Given the description of an element on the screen output the (x, y) to click on. 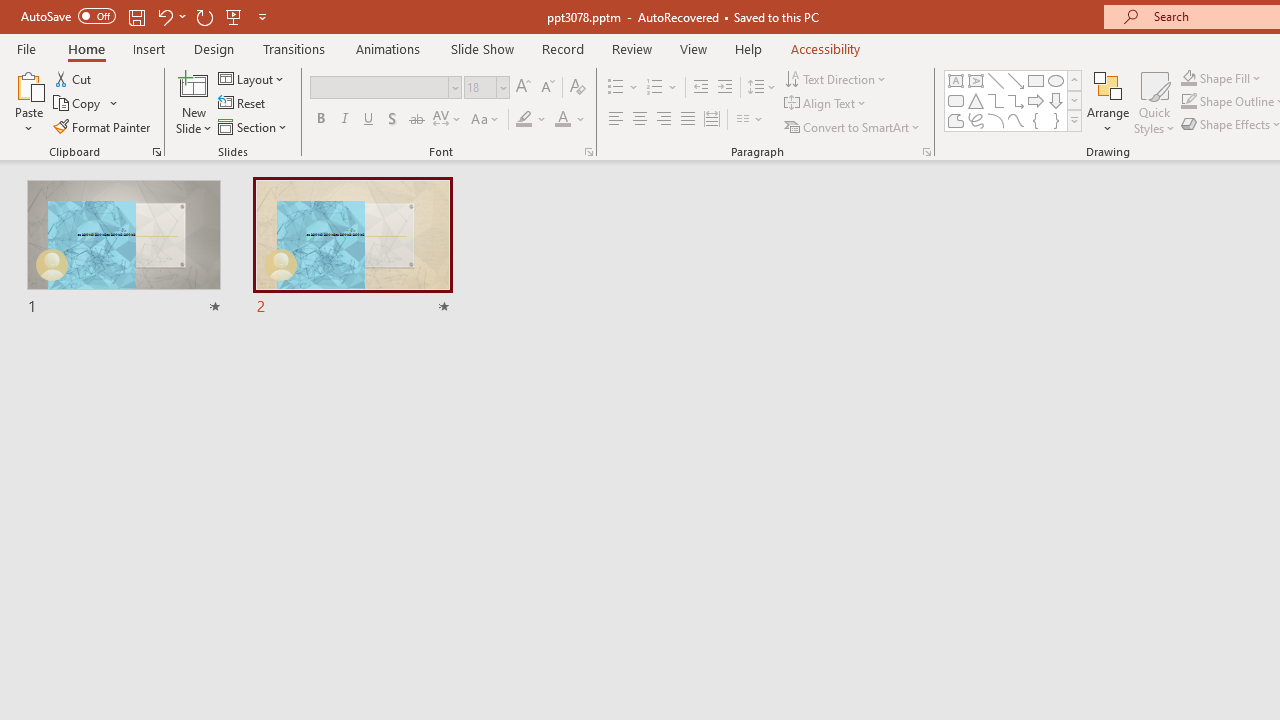
Shape Outline Green, Accent 1 (1188, 101)
